Given the description of an element on the screen output the (x, y) to click on. 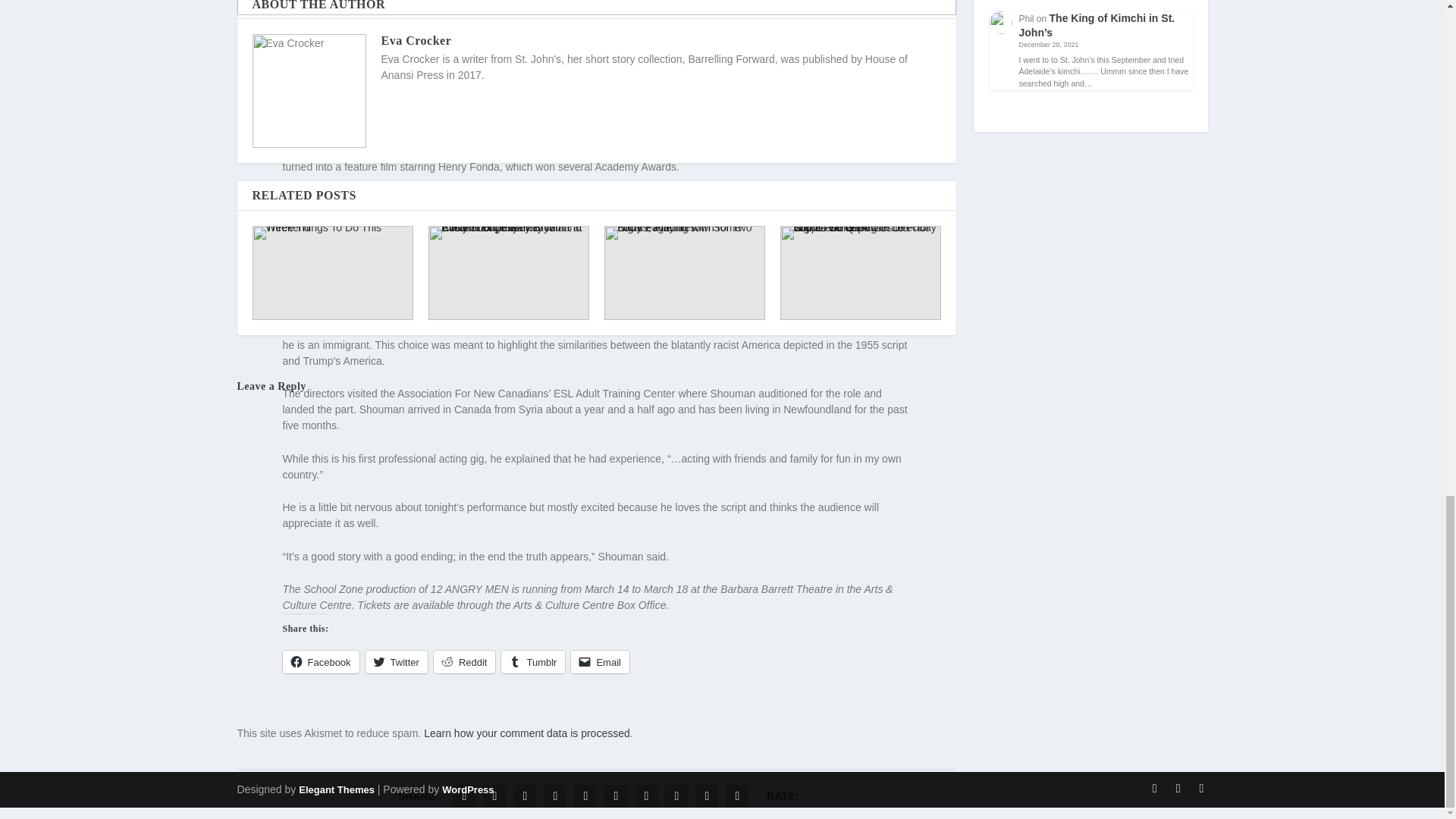
Eva Crocker (415, 40)
Email (599, 661)
Tumblr (532, 661)
Twitter (396, 661)
Facebook (320, 661)
Reddit (464, 661)
Click to email a link to a friend (599, 661)
Click to share on Twitter (396, 661)
Click to share on Facebook (320, 661)
Click to share on Tumblr (532, 661)
Click to share on Reddit (464, 661)
